Given the description of an element on the screen output the (x, y) to click on. 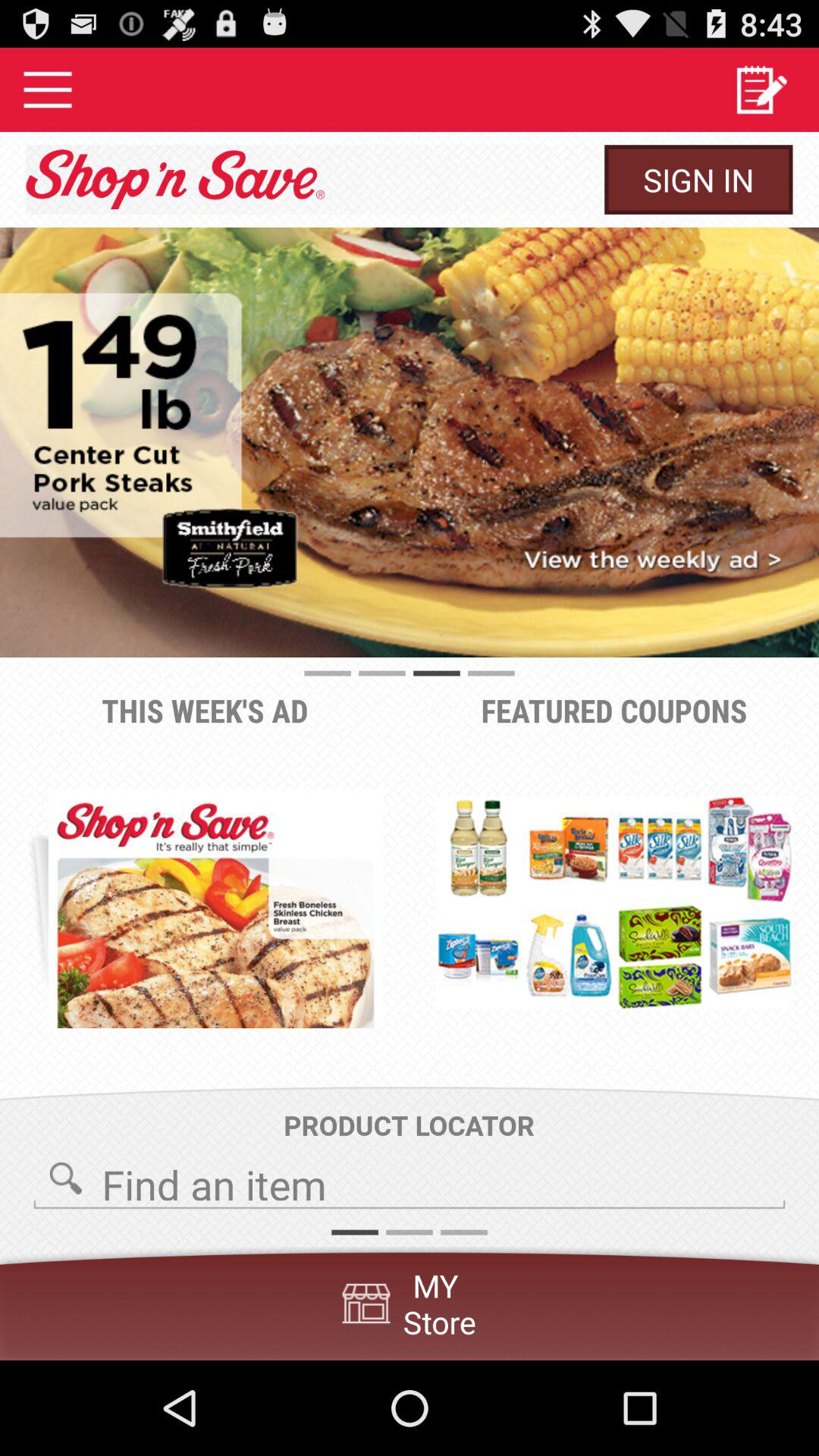
go to notepad (760, 89)
